Given the description of an element on the screen output the (x, y) to click on. 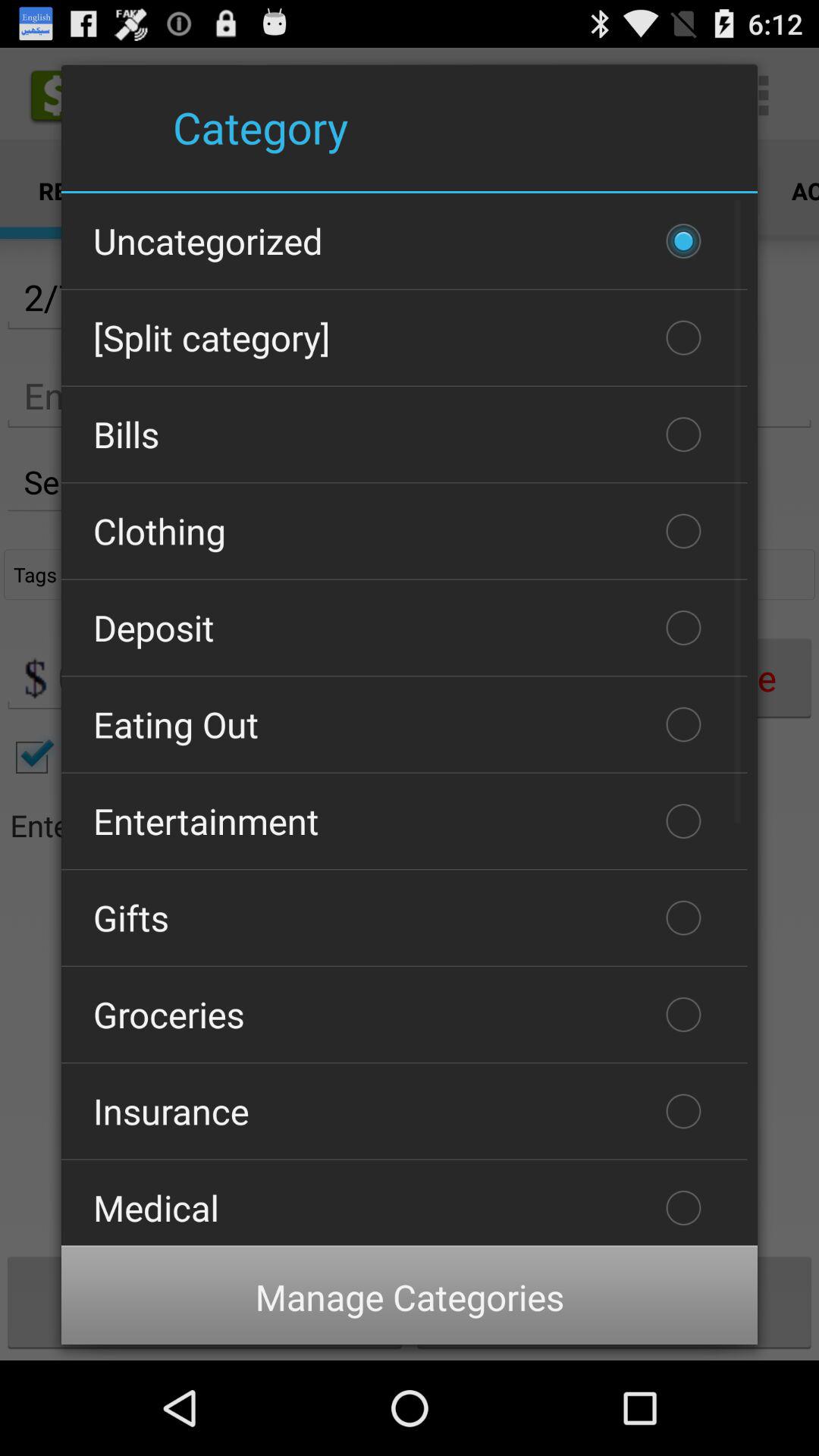
turn on the icon above the groceries checkbox (404, 917)
